Given the description of an element on the screen output the (x, y) to click on. 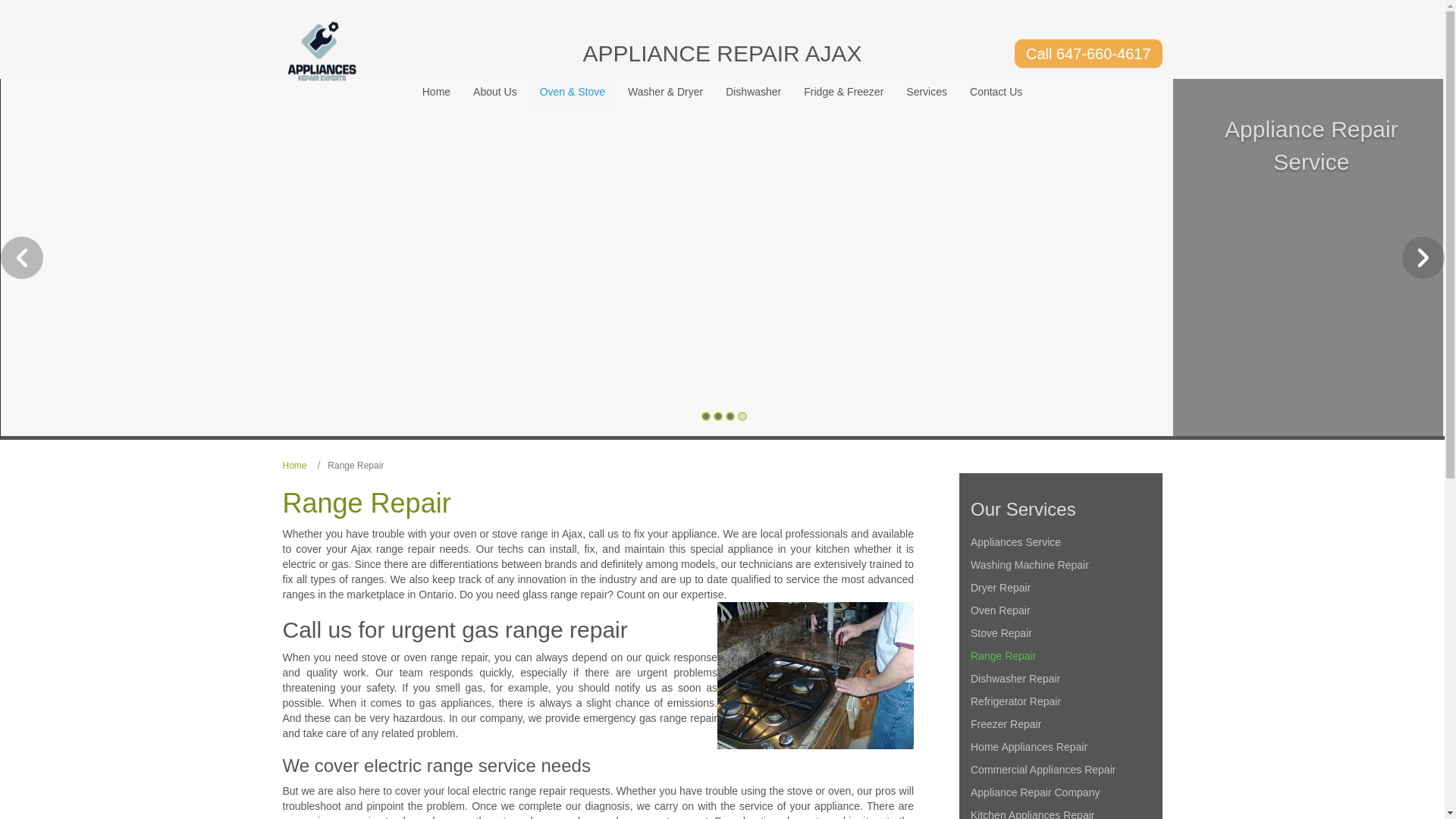
Home Element type: text (436, 91)
Commercial Appliances Repair Element type: text (1060, 769)
Washing Machine Repair Element type: text (1060, 564)
Fridge & Freezer Element type: text (843, 91)
Washer & Dryer Element type: text (665, 91)
Appliance Repair Company Element type: text (1060, 792)
Range Repair Element type: text (1060, 655)
Home Element type: text (294, 465)
Freezer Repair Element type: text (1060, 723)
Dishwasher Element type: text (753, 91)
Call 647-660-4617 Element type: text (1088, 53)
Contact Us Element type: text (995, 91)
Dryer Repair Element type: text (1060, 587)
Refrigerator Repair Element type: text (1060, 701)
Oven & Stove Element type: text (572, 91)
Services Element type: text (926, 91)
Home Appliances Repair Element type: text (1060, 746)
Appliances Service Element type: text (1060, 541)
Dishwasher Repair Element type: text (1060, 678)
Oven Repair Element type: text (1060, 610)
Stove Repair Element type: text (1060, 632)
About Us Element type: text (494, 91)
